Given the description of an element on the screen output the (x, y) to click on. 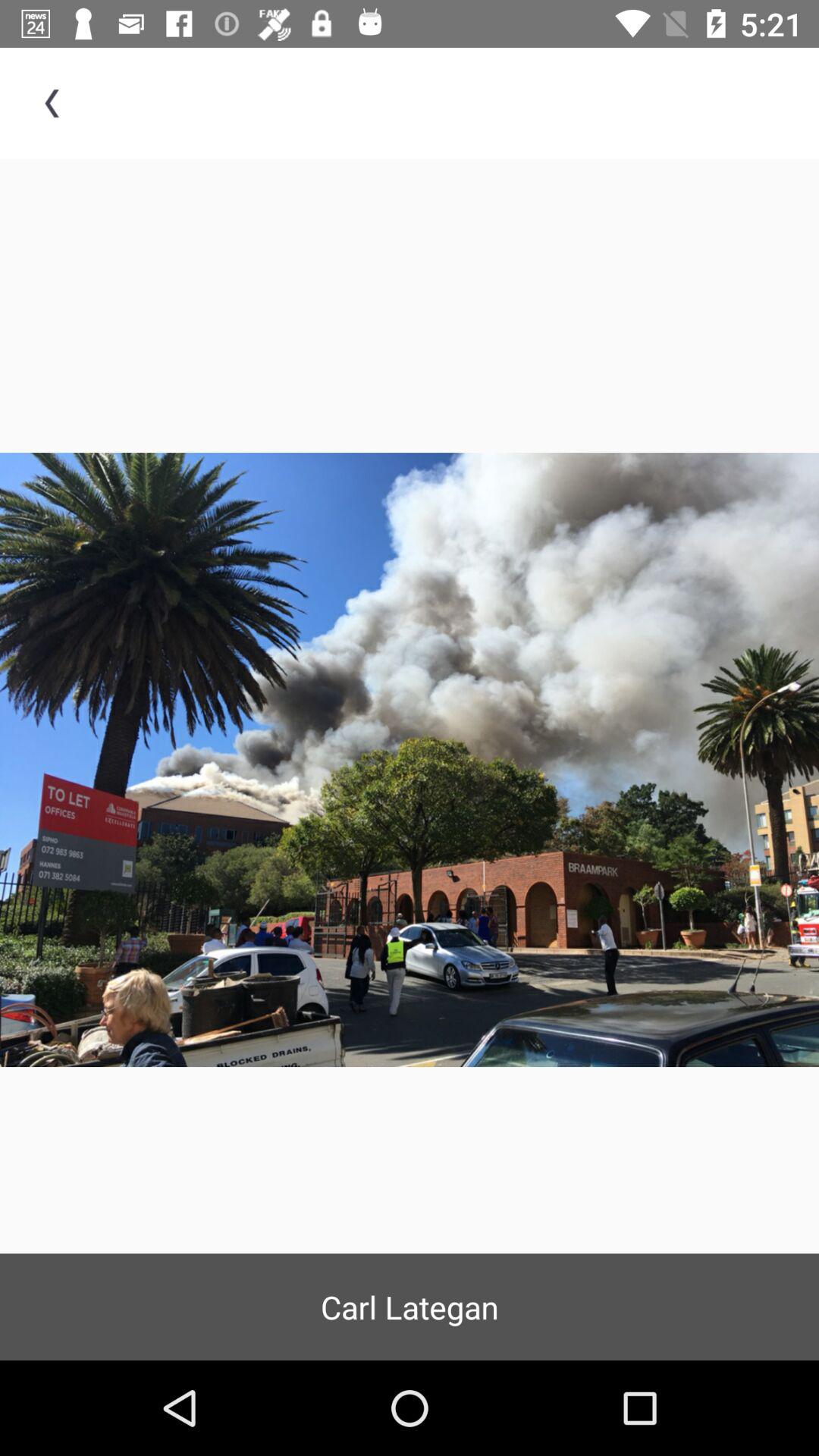
tap the icon at the top left corner (55, 103)
